Given the description of an element on the screen output the (x, y) to click on. 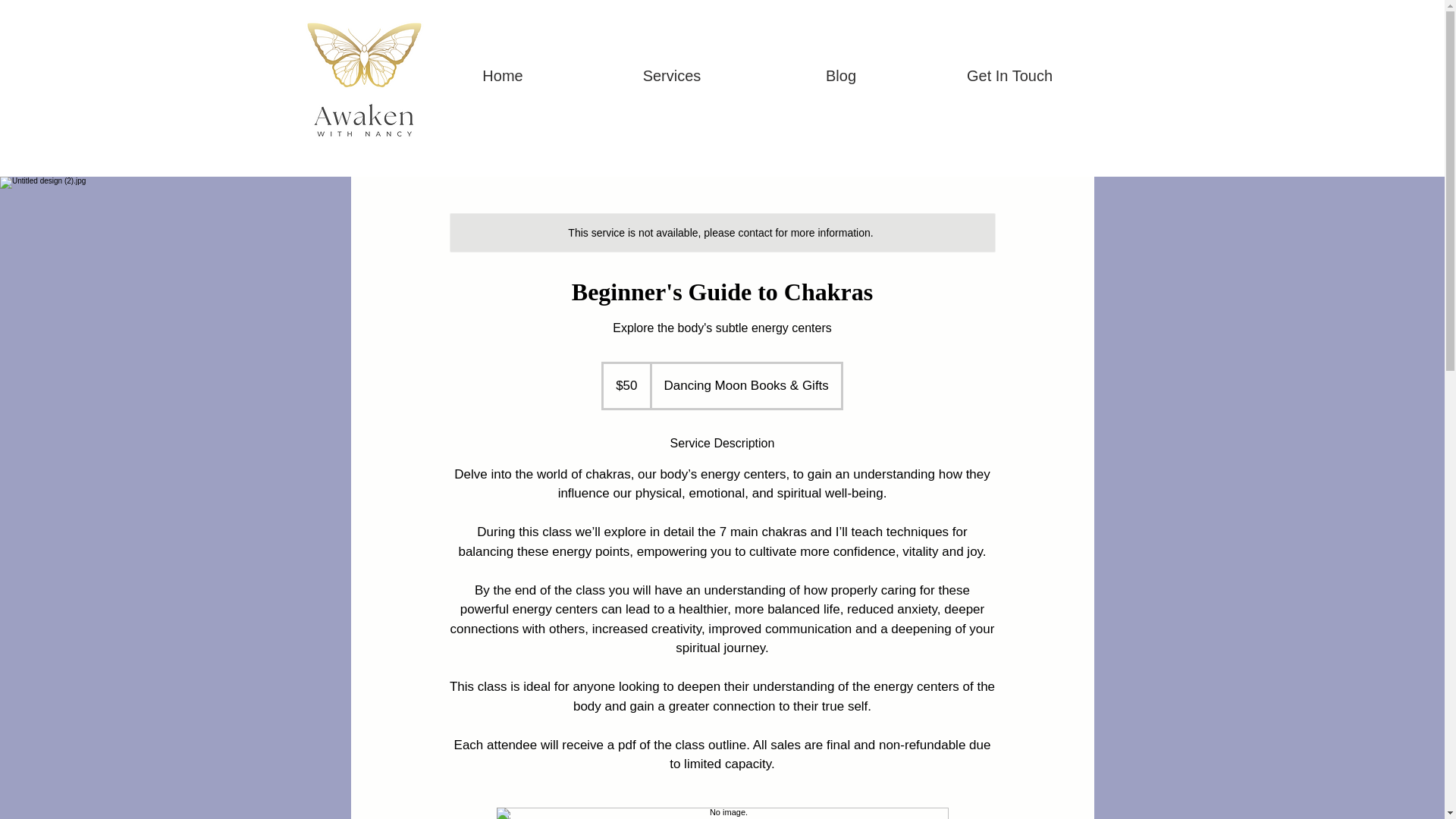
Blog (841, 80)
Services (670, 80)
Get In Touch (1008, 80)
Home (503, 80)
